Given the description of an element on the screen output the (x, y) to click on. 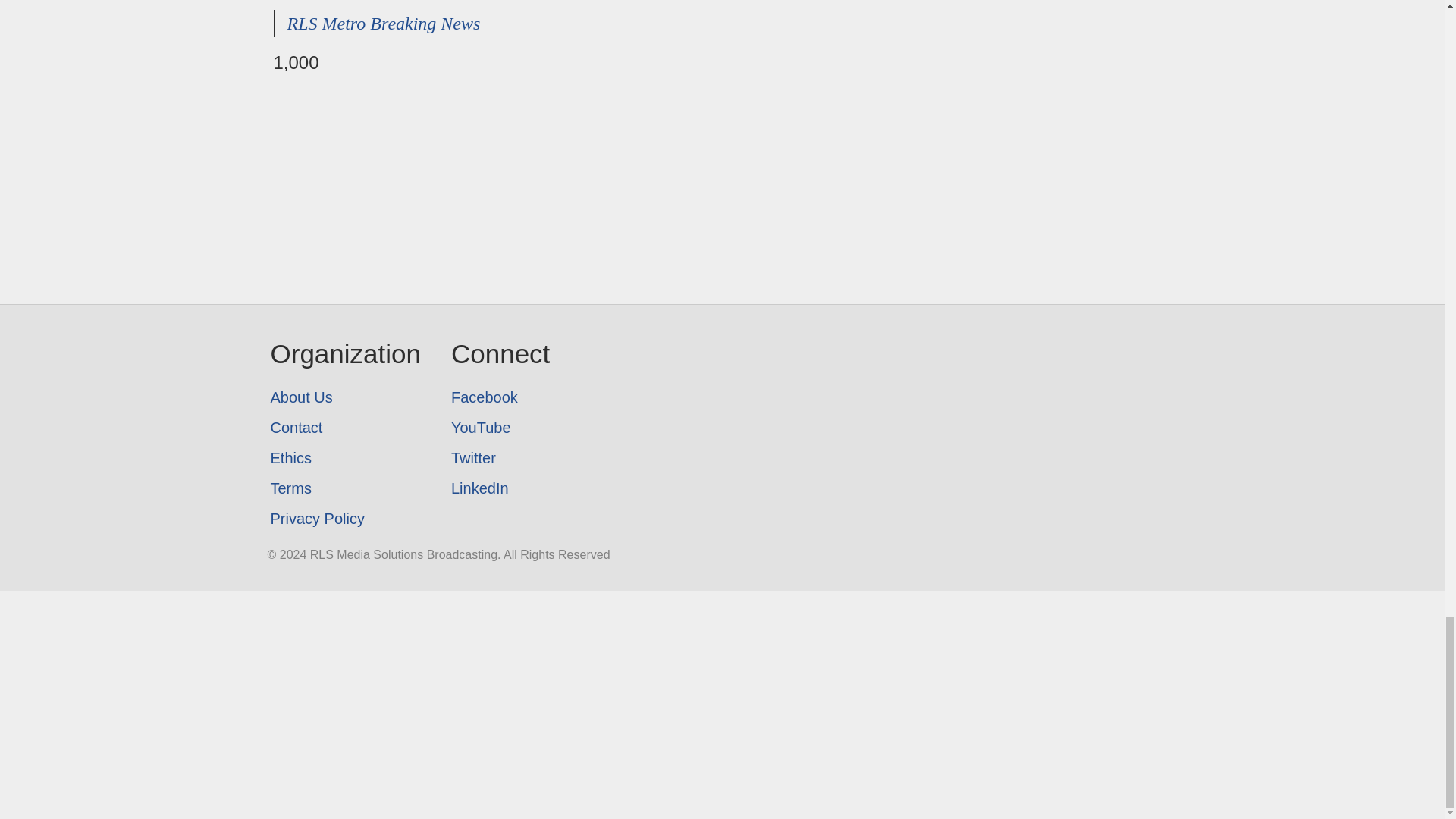
Twitter (500, 458)
Privacy Policy (344, 518)
Ethics (344, 458)
Contact Us (344, 427)
Terms (344, 488)
About Us (344, 397)
Contact (344, 427)
Facebook (500, 397)
RLS Metro Breaking News (383, 23)
